Given the description of an element on the screen output the (x, y) to click on. 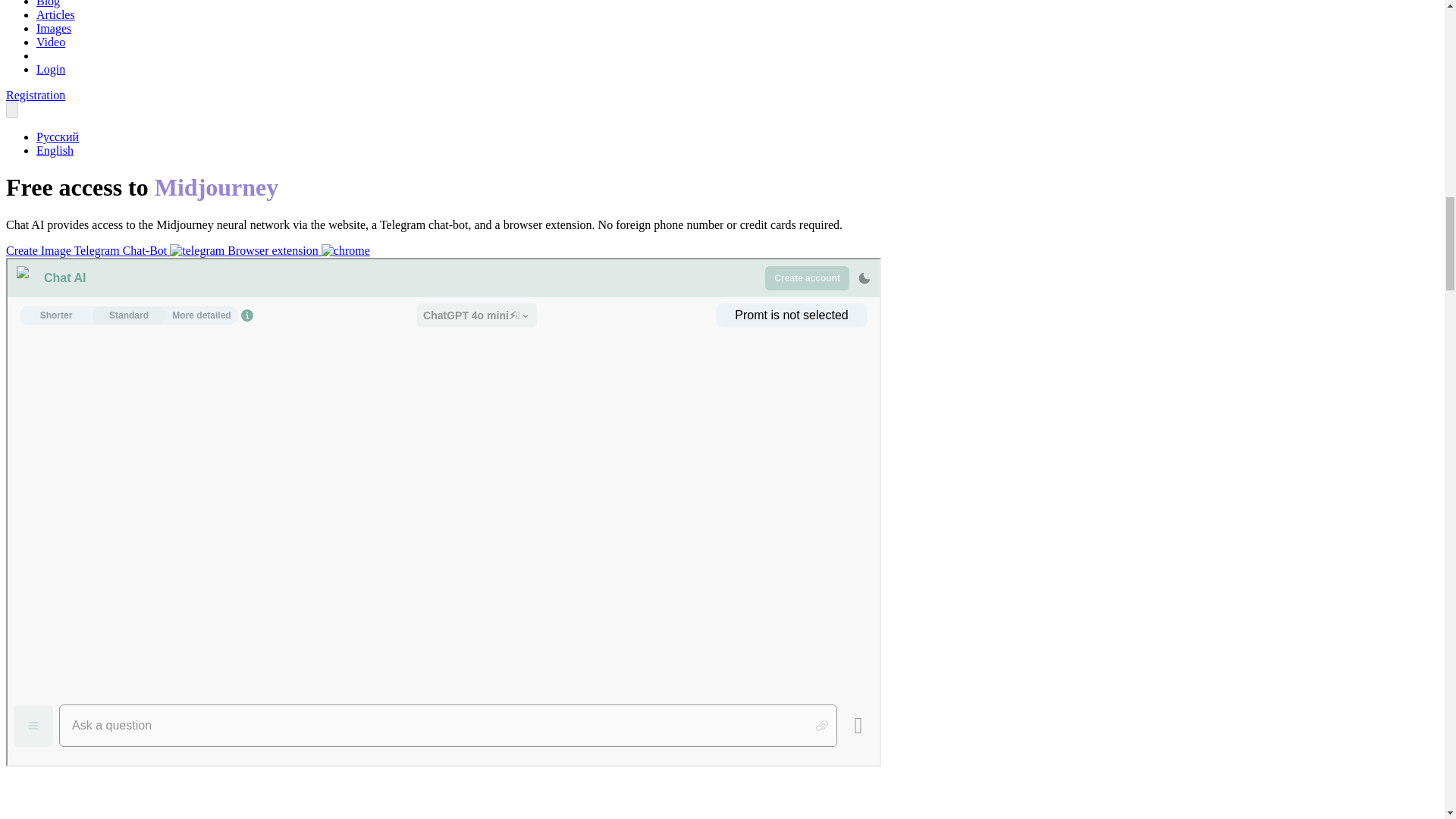
Images (53, 28)
Blog (47, 3)
English (55, 150)
Create Image (39, 250)
Login (50, 69)
Telegram Chat-Bot (150, 250)
Registration (35, 94)
Articles (55, 14)
Video (50, 42)
Browser extension (298, 250)
